Given the description of an element on the screen output the (x, y) to click on. 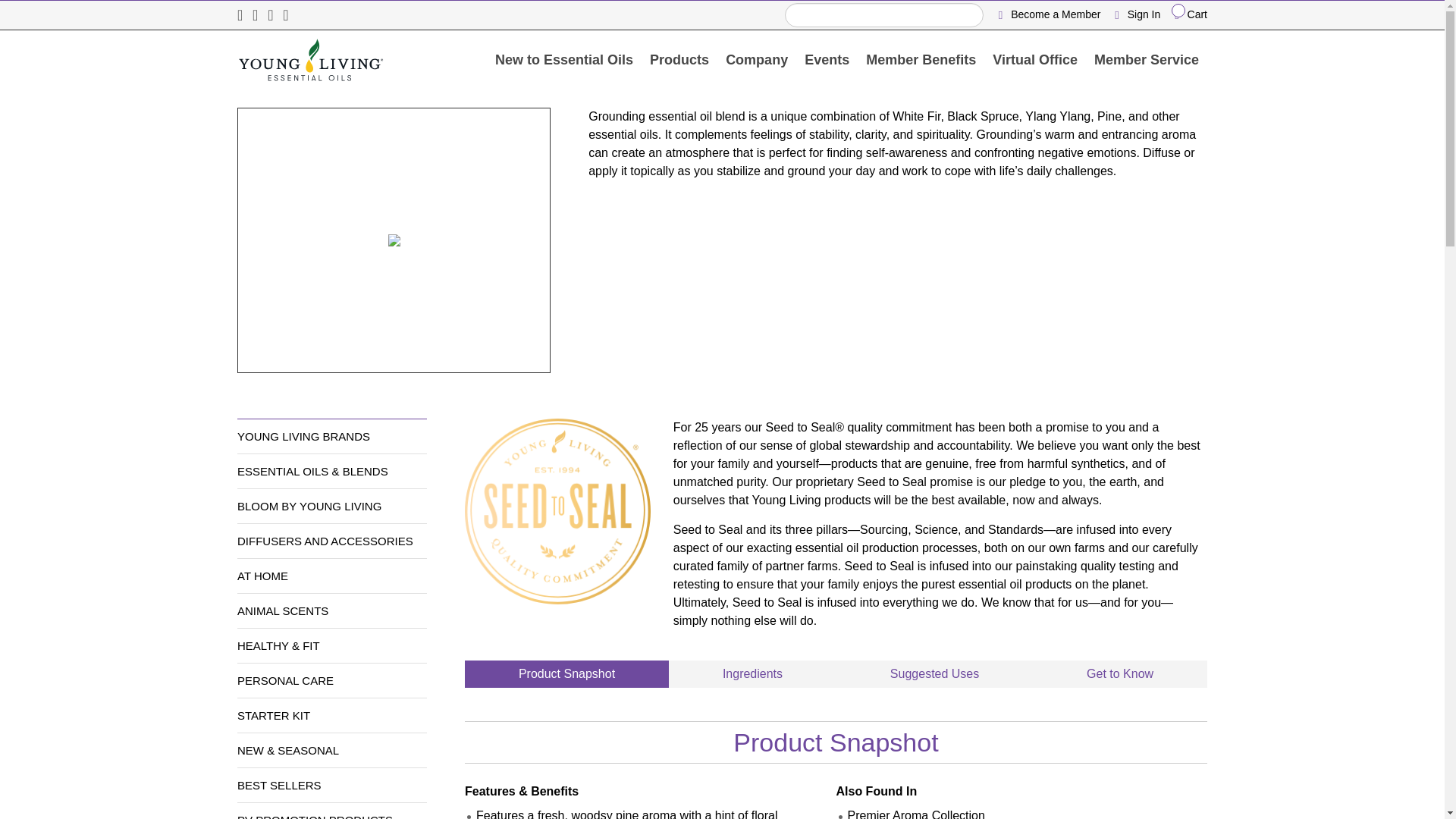
Sign In (1133, 14)
Young Living Essential Oils Blog (285, 14)
New to Essential Oils (564, 59)
Young Living Essential Oils Instgram (254, 14)
Young Living Essential Oils Facebook (240, 14)
Become a Member (1050, 14)
Cart (1185, 14)
Products (679, 59)
Young Living Essential Oils YouTube (270, 14)
